Given the description of an element on the screen output the (x, y) to click on. 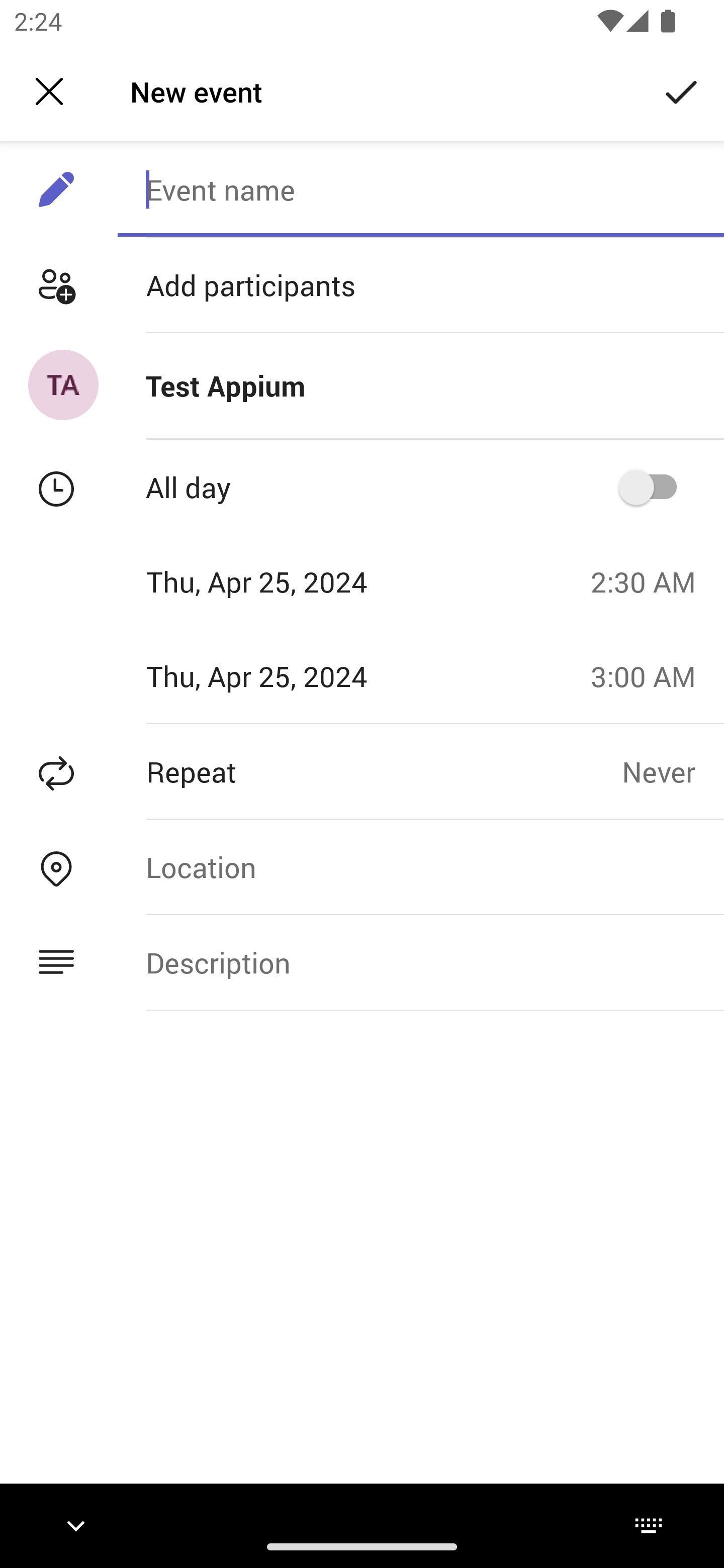
Back (49, 91)
Send invite (681, 90)
Event name (420, 189)
Add participants Add participants option (362, 285)
All day (654, 486)
Thu, Apr 25, 2024 Starts Thursday Apr 25, 2024 (288, 581)
2:30 AM Start time 2:30 AM (650, 581)
Thu, Apr 25, 2024 Ends Thursday Apr 25, 2024 (288, 675)
3:00 AM End time 3:00 AM (650, 675)
Repeat (310, 771)
Never Repeat Never (672, 771)
Location (420, 867)
Description (420, 962)
